Given the description of an element on the screen output the (x, y) to click on. 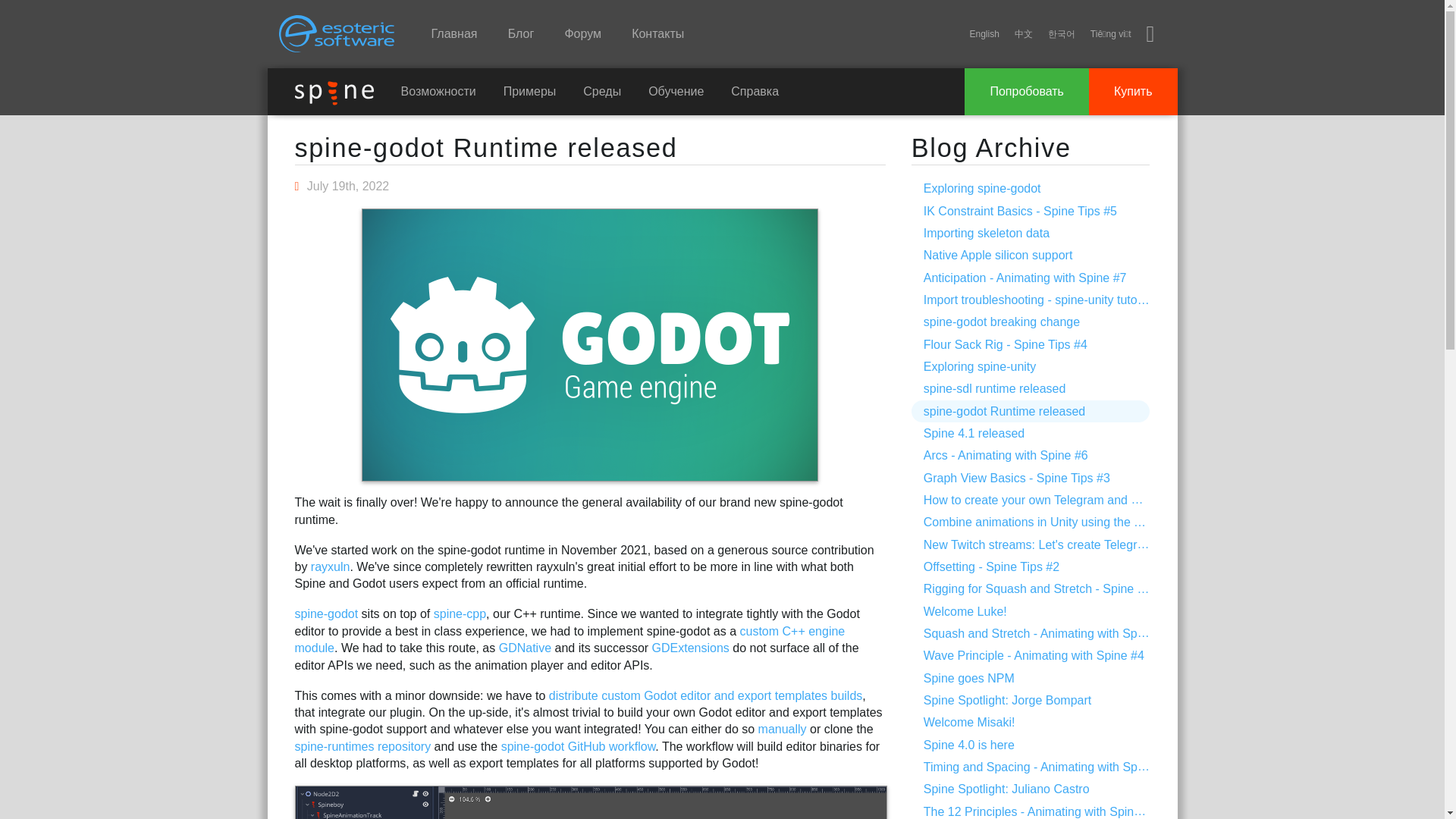
GDExtensions (690, 647)
spine-godot Runtime released (485, 147)
spine-runtimes repository (362, 746)
manually (782, 728)
GDNative (525, 647)
distribute custom Godot editor and export templates builds (705, 695)
spine-godot (326, 613)
spine-godot GitHub workflow (578, 746)
spine-cpp (459, 613)
rayxuln (330, 566)
